Given the description of an element on the screen output the (x, y) to click on. 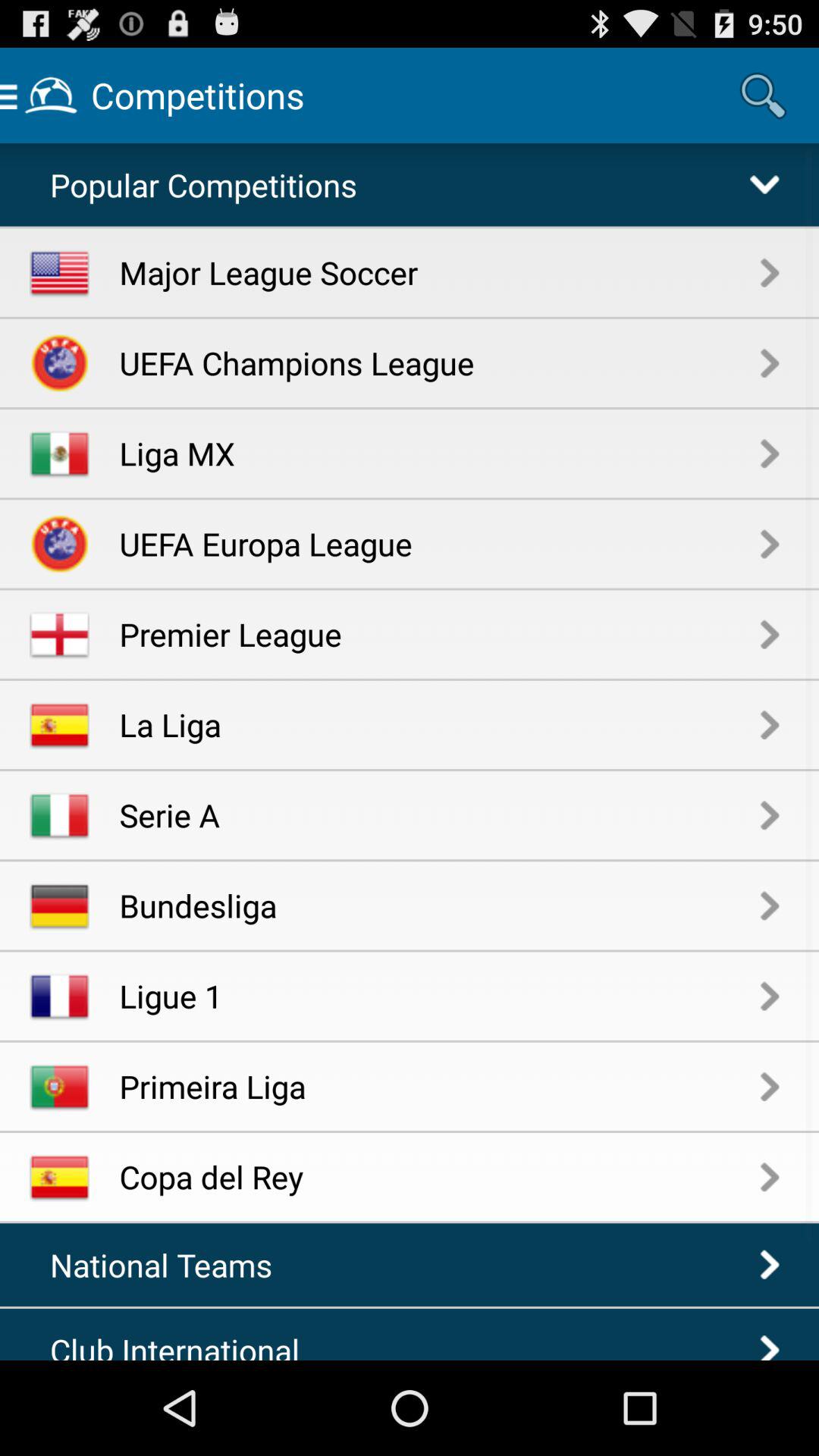
launch the app to the right of the competitions item (763, 95)
